Given the description of an element on the screen output the (x, y) to click on. 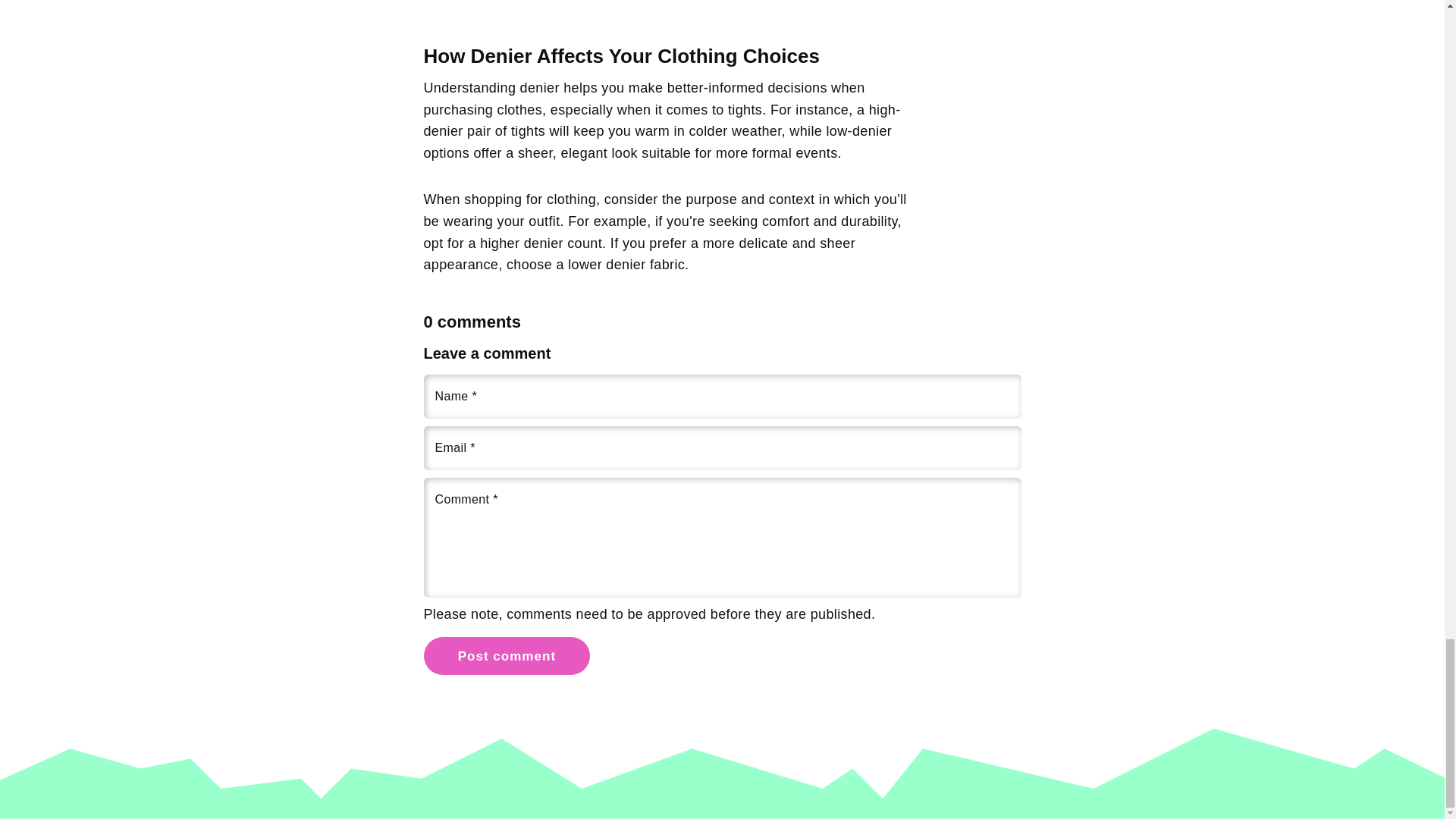
Post comment (506, 655)
